Given the description of an element on the screen output the (x, y) to click on. 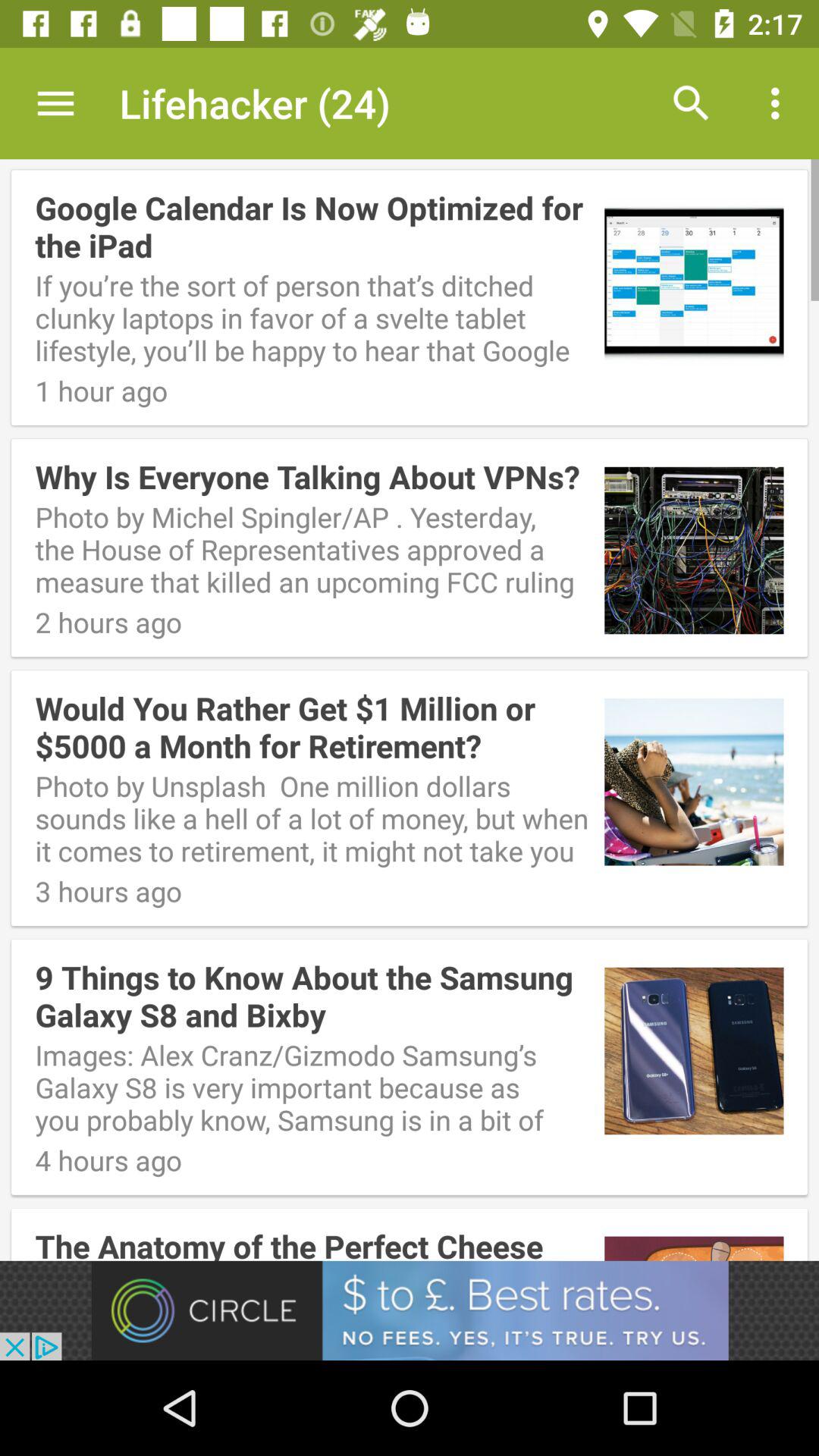
advertisement (409, 1310)
